Given the description of an element on the screen output the (x, y) to click on. 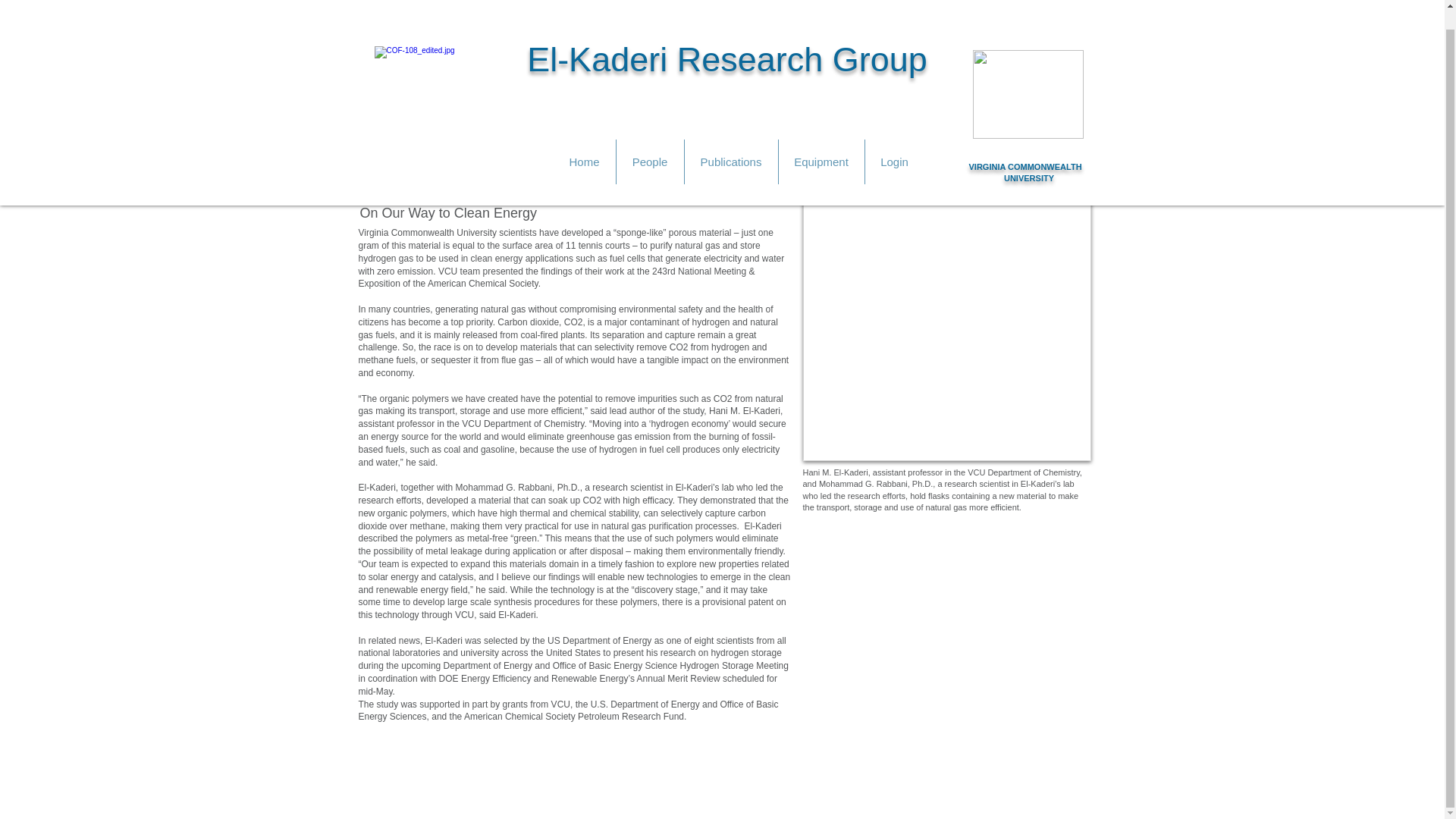
Equipment (820, 142)
Home (584, 142)
El-Kaderi Research Group (727, 40)
Publications (730, 142)
UNIVERSITY (1029, 158)
Login (893, 142)
People (648, 142)
VIRGINIA COMMONWEALTH (1025, 147)
